Given the description of an element on the screen output the (x, y) to click on. 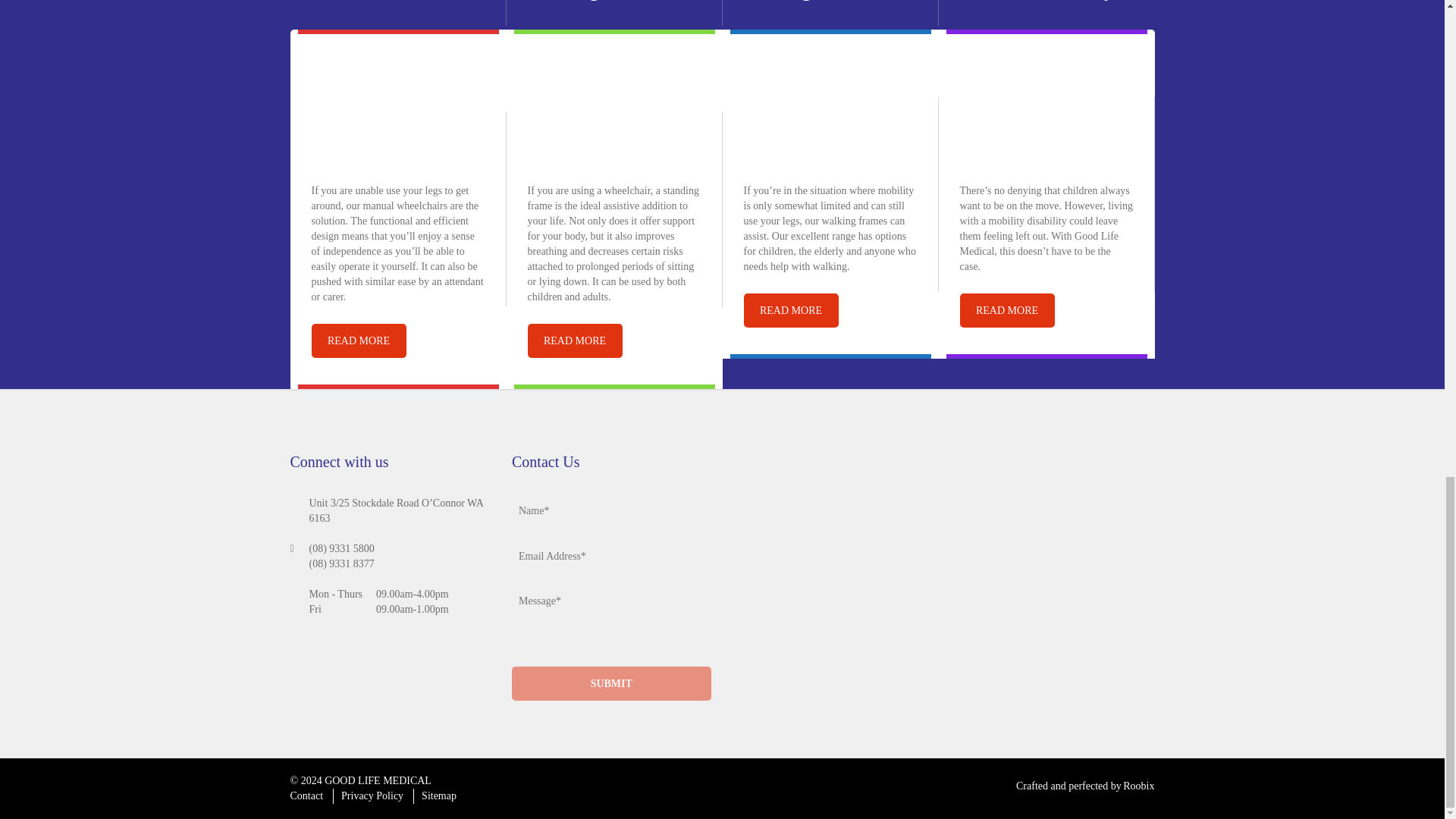
Contact (306, 795)
READ MORE (358, 340)
SUBMIT (611, 683)
READ MORE (575, 340)
SUBMIT (611, 683)
READ MORE (1006, 310)
READ MORE (790, 310)
Privacy Policy (371, 795)
